Given the description of an element on the screen output the (x, y) to click on. 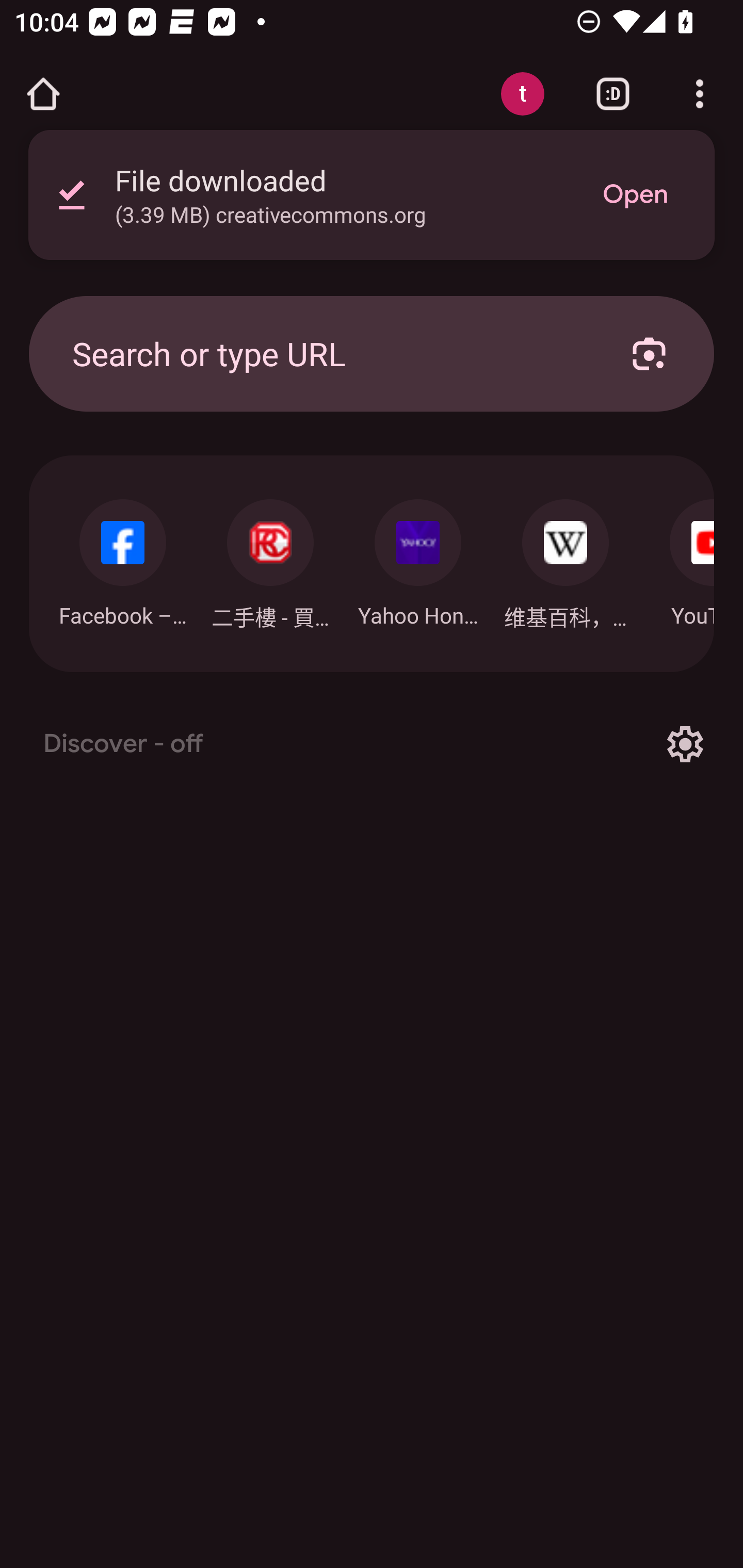
Open the home page (43, 93)
Switch or close tabs (612, 93)
Customize and control Google Chrome (699, 93)
Open (634, 195)
Search or type URL (327, 353)
Search with your camera using Google Lens (648, 353)
Options for Discover (684, 743)
